Given the description of an element on the screen output the (x, y) to click on. 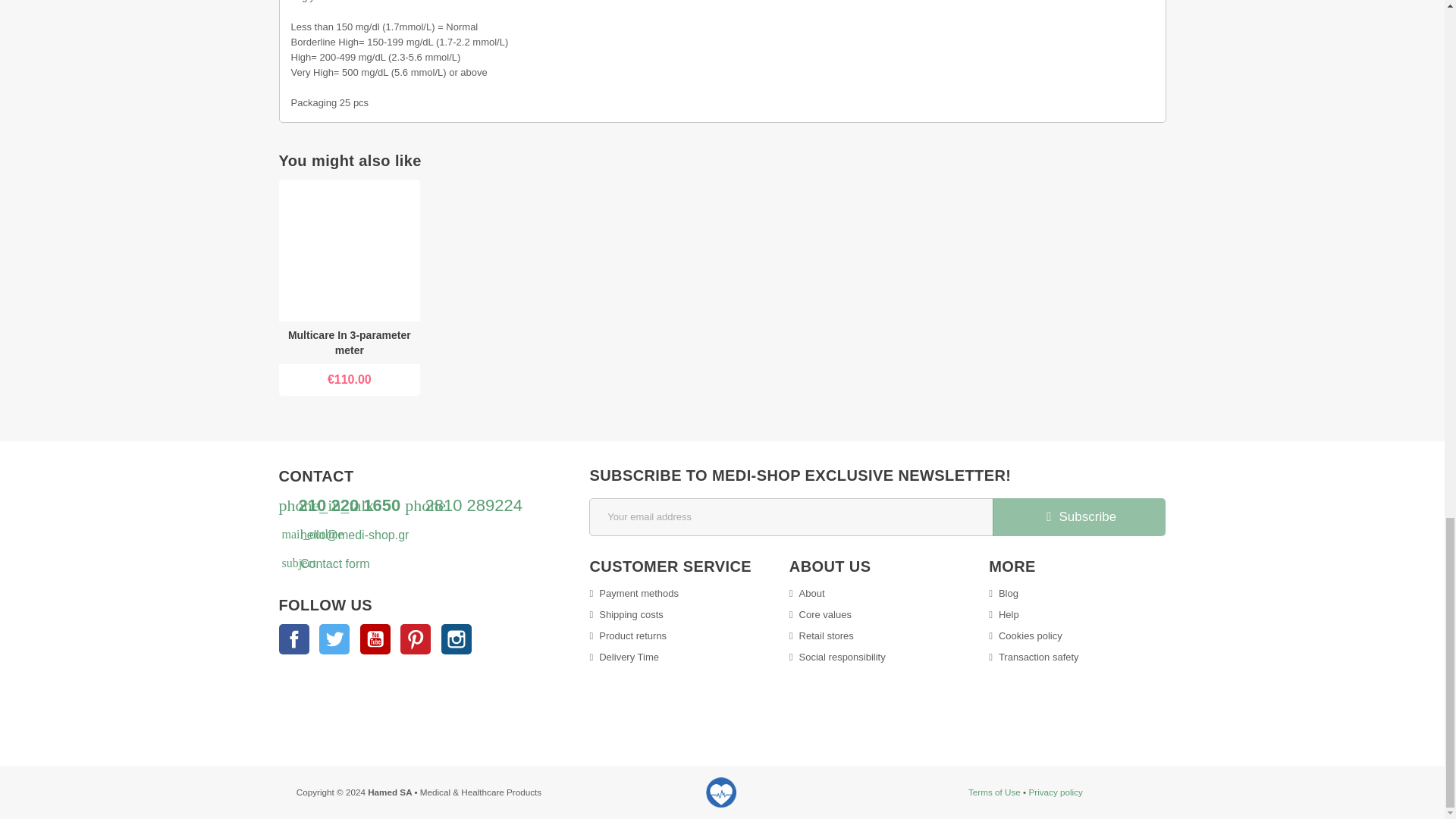
Social responsibility (837, 656)
Instagram (456, 639)
Shipping costs (625, 614)
Multicare In 3-parameter meter (349, 250)
subject Contact form (325, 563)
Multicare In 3-parameter meter (349, 342)
Delivery Time (624, 656)
Core values (820, 614)
Pinterest (415, 639)
Twitter (333, 639)
